Given the description of an element on the screen output the (x, y) to click on. 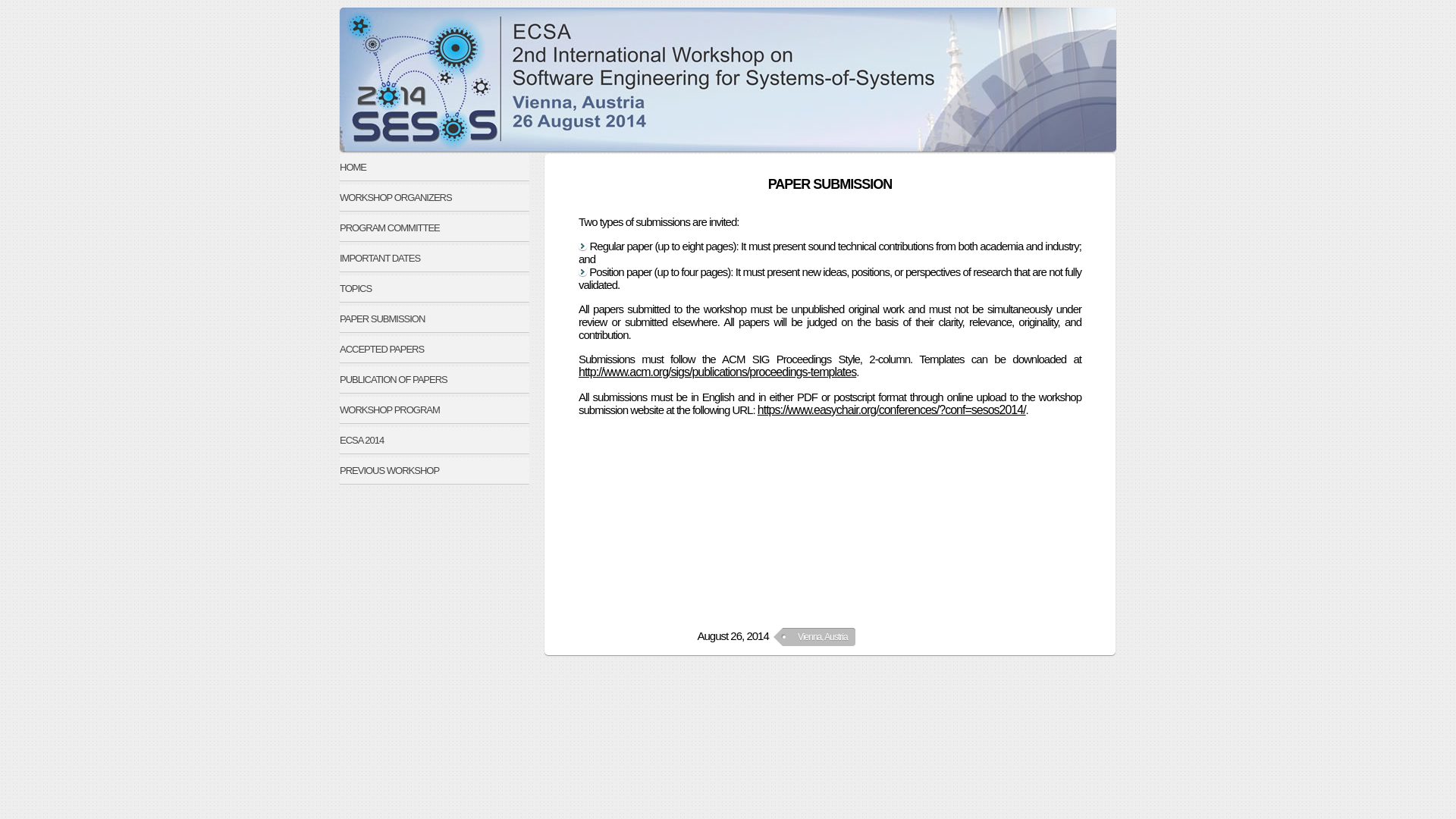
TOPICS Element type: text (434, 288)
HOME Element type: text (434, 166)
https://www.easychair.org/conferences/?conf=sesos2014/ Element type: text (891, 409)
ACCEPTED PAPERS Element type: text (434, 348)
PUBLICATION OF PAPERS Element type: text (434, 379)
WORKSHOP PROGRAM Element type: text (434, 409)
http://www.acm.org/sigs/publications/proceedings-templates Element type: text (717, 371)
SESOS 2014 Element type: hover (727, 79)
WORKSHOP ORGANIZERS Element type: text (434, 197)
PREVIOUS WORKSHOP Element type: text (434, 470)
PAPER SUBMISSION Element type: text (434, 318)
ECSA 2014 Element type: text (434, 439)
PROGRAM COMMITTEE Element type: text (434, 227)
IMPORTANT DATES Element type: text (434, 257)
